Given the description of an element on the screen output the (x, y) to click on. 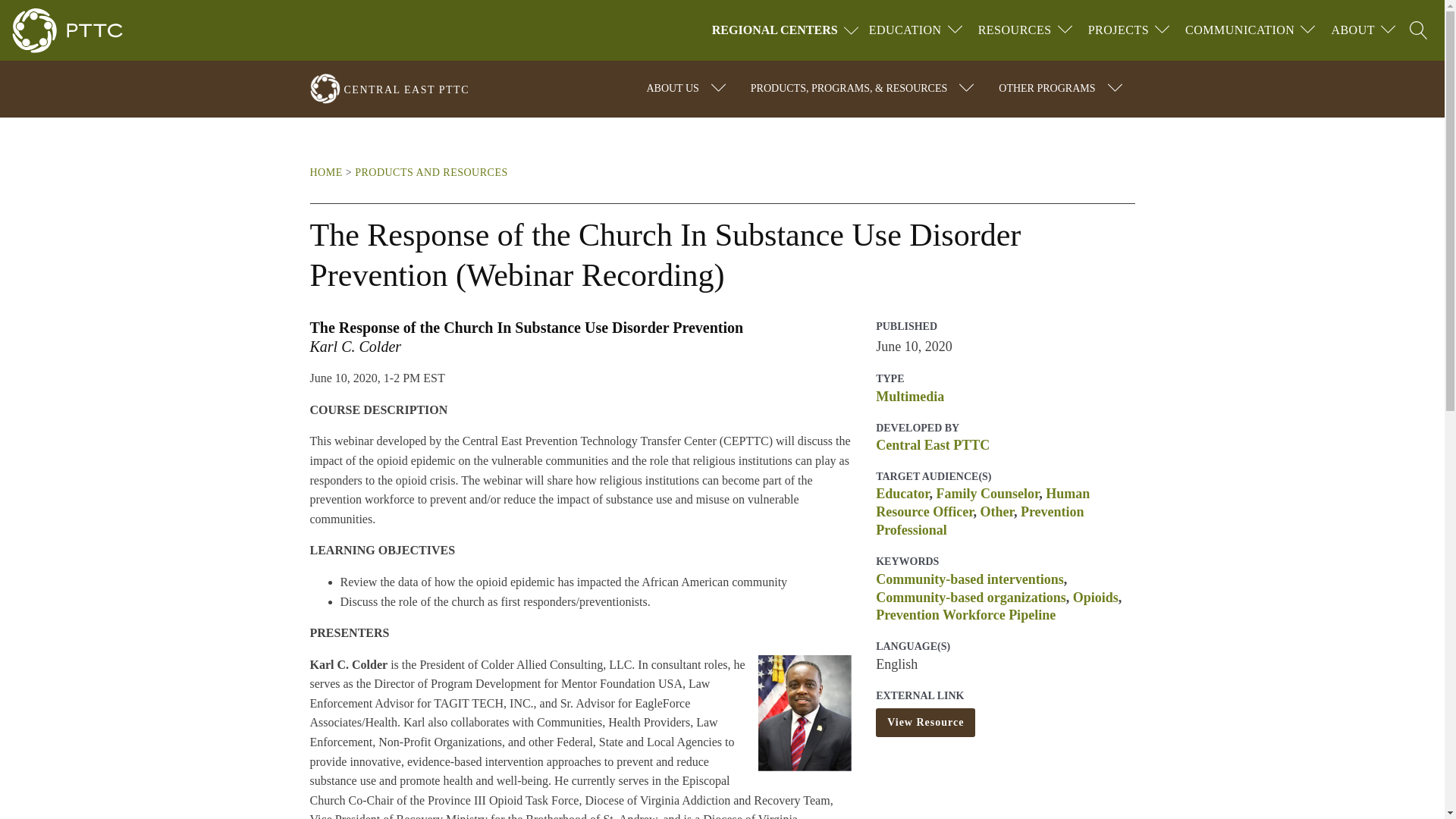
RESOURCES (1015, 30)
EDUCATION (905, 30)
PROJECTS (1117, 30)
REGIONAL CENTERS (787, 30)
